Given the description of an element on the screen output the (x, y) to click on. 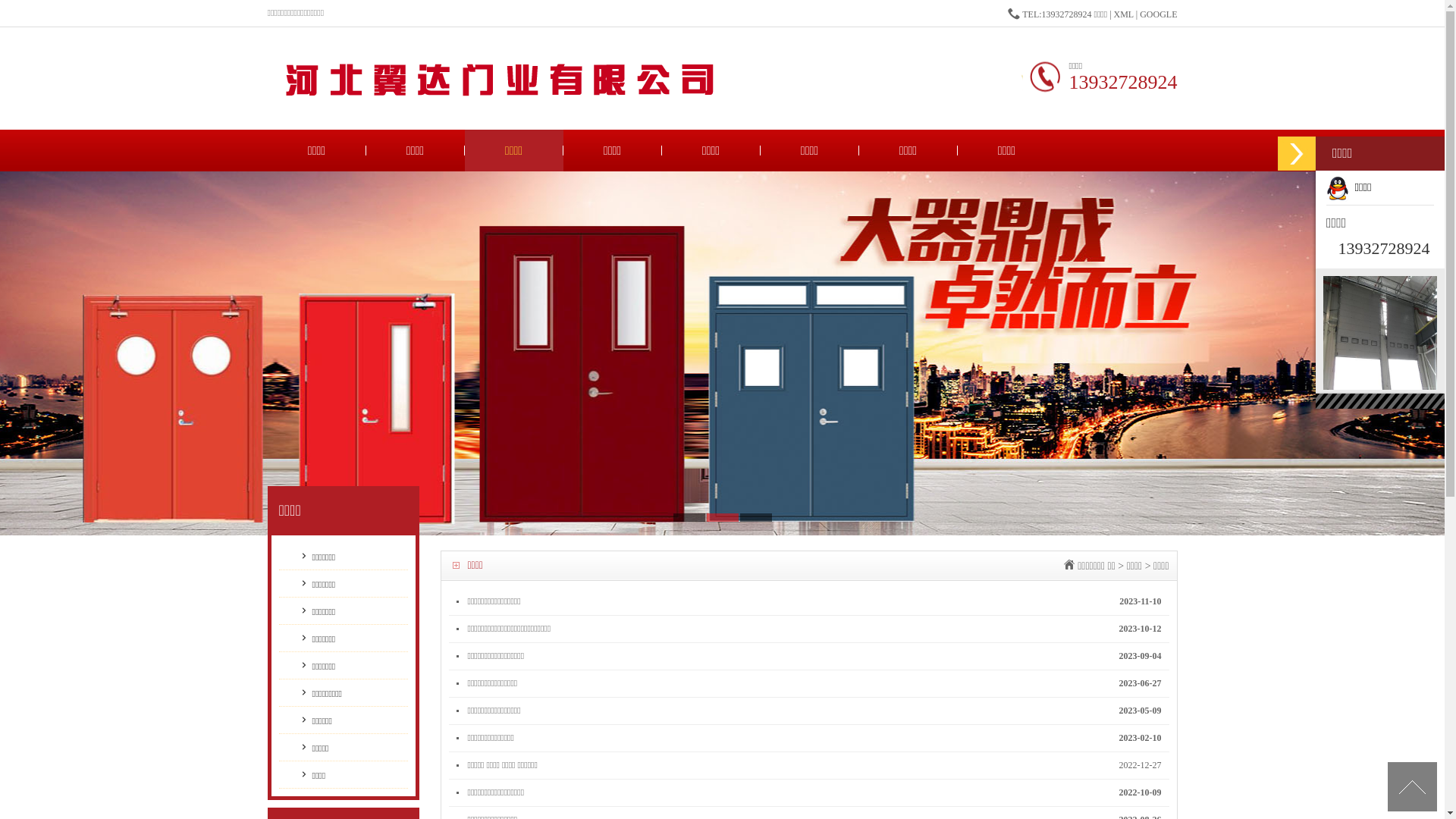
XML Element type: text (1123, 14)
GOOGLE Element type: text (1157, 14)
